Given the description of an element on the screen output the (x, y) to click on. 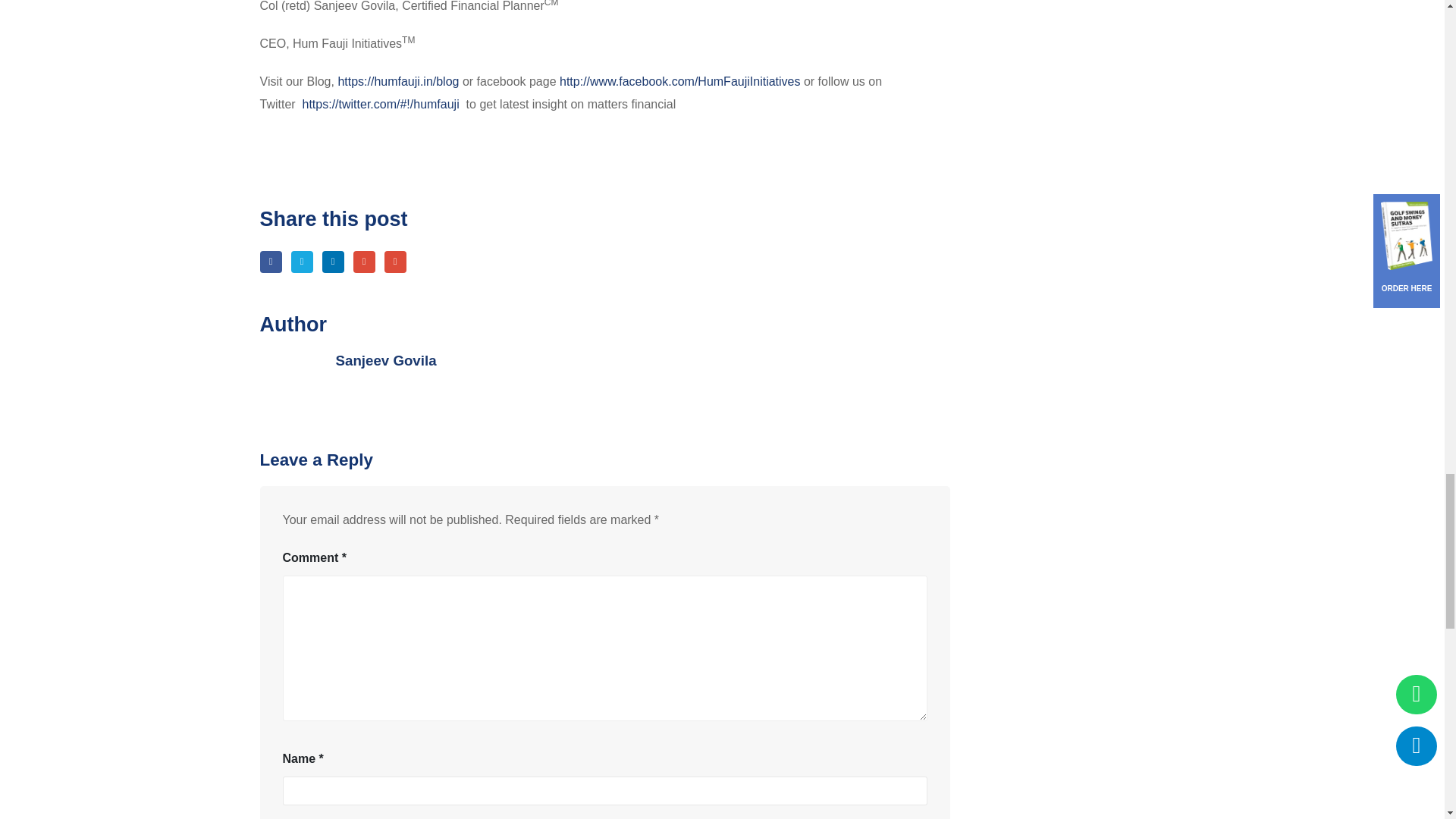
Facebook (270, 261)
Email (395, 261)
LinkedIn (332, 261)
Twitter (302, 261)
Posts by Sanjeev Govila (384, 360)
